Given the description of an element on the screen output the (x, y) to click on. 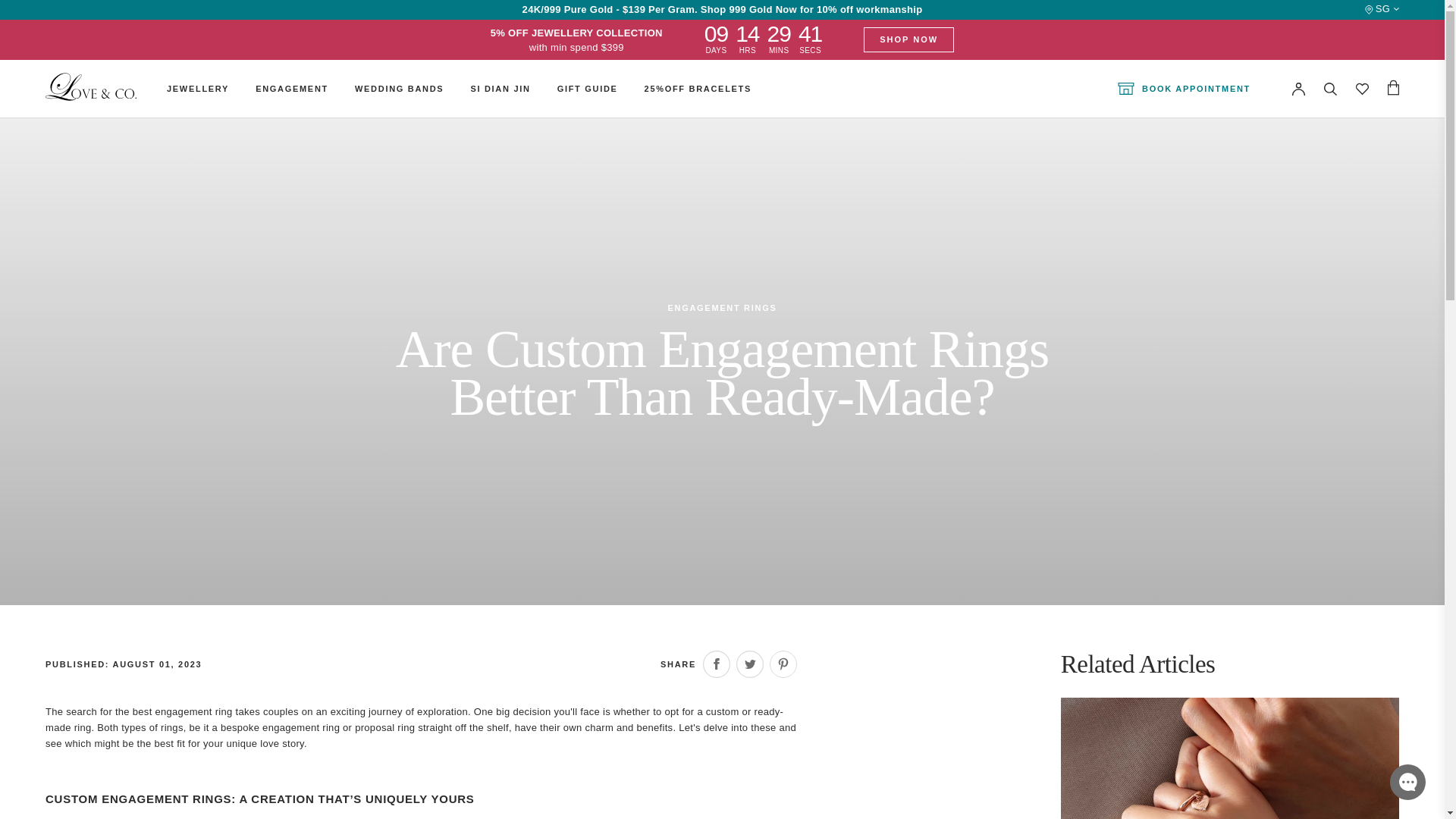
BOOK APPOINTMENT (1184, 88)
ENGAGEMENT (292, 88)
WEDDING BANDS (399, 88)
JEWELLERY (197, 88)
SI DIAN JIN (499, 88)
GIFT GUIDE (587, 88)
Engagement Rings (507, 78)
Wishlist (1361, 88)
Account (1298, 88)
Lab Diamond Rings (864, 78)
